Given the description of an element on the screen output the (x, y) to click on. 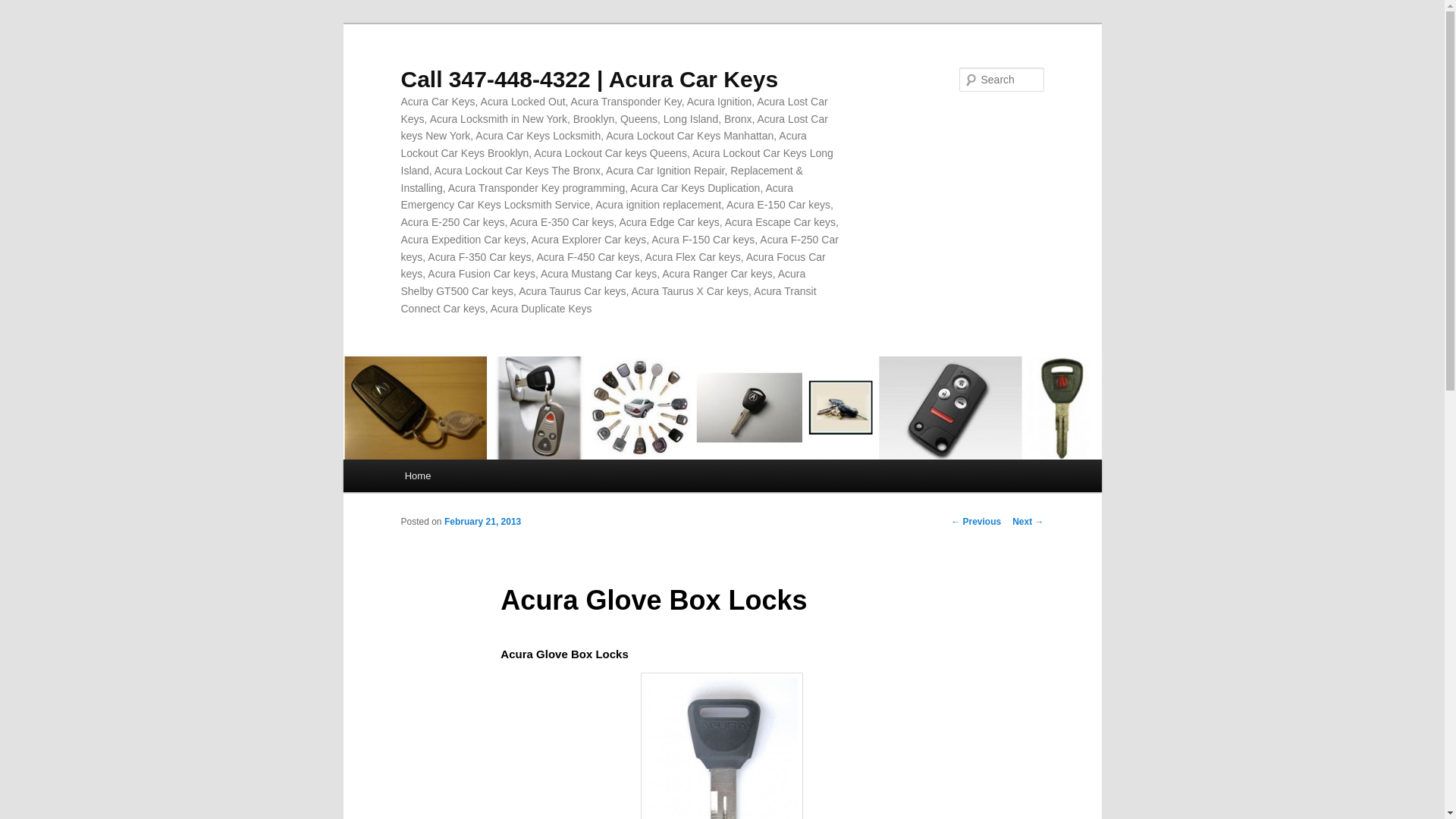
February 21, 2013 (482, 521)
Search (24, 8)
Home (417, 475)
10:30 pm (482, 521)
